Given the description of an element on the screen output the (x, y) to click on. 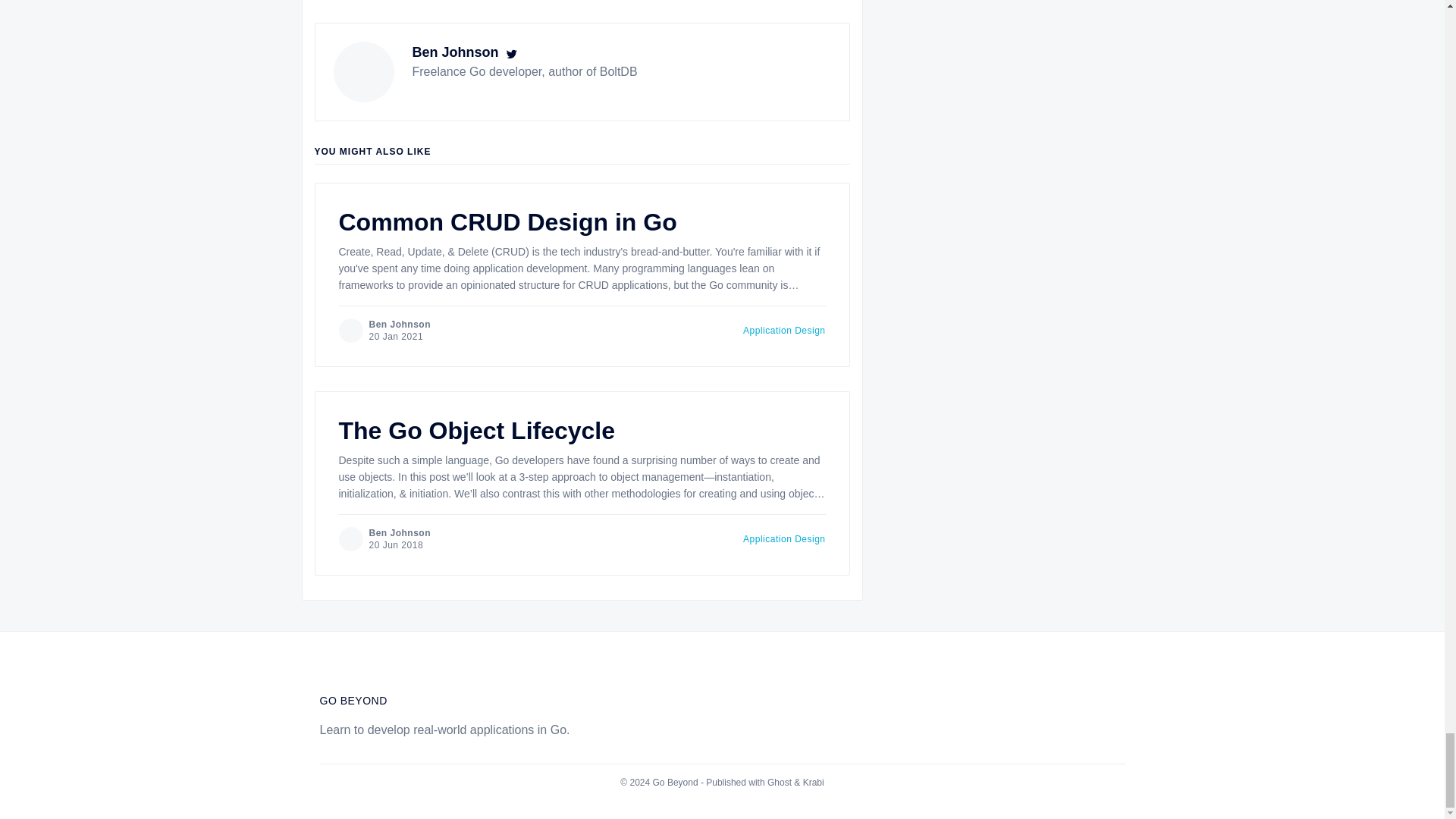
Common CRUD Design in Go (507, 221)
20 June 2018 (395, 544)
Ben Johnson (455, 52)
The Go Object Lifecycle (475, 430)
Application Design (383, 330)
20 January 2021 (783, 330)
